Given the description of an element on the screen output the (x, y) to click on. 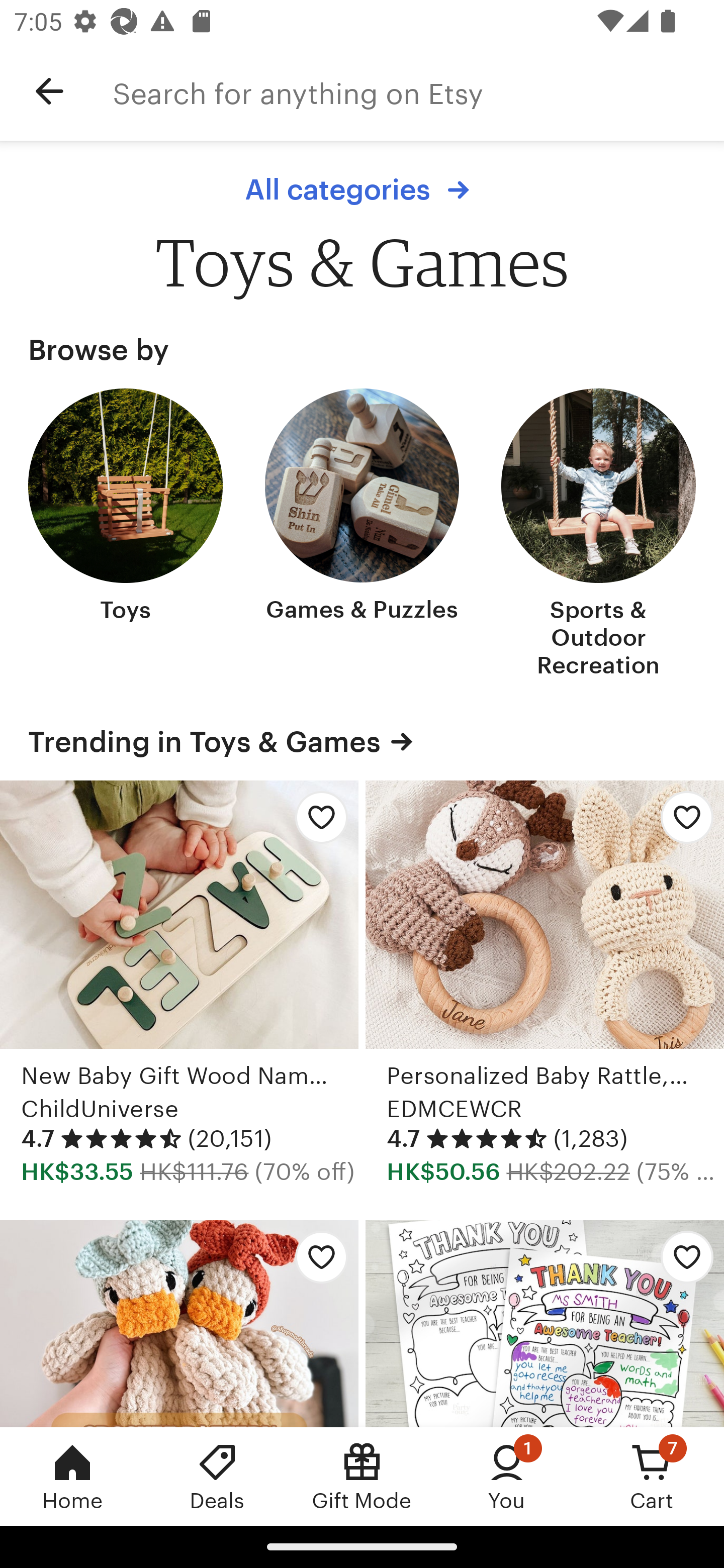
Navigate up (49, 91)
Search for anything on Etsy (418, 91)
All categories (361, 189)
Toys (125, 535)
Games & Puzzles (361, 535)
Sports & Outdoor Recreation (598, 535)
Trending in Toys & Games  (361, 741)
Deals (216, 1475)
Gift Mode (361, 1475)
You, 1 new notification You (506, 1475)
Cart, 7 new notifications Cart (651, 1475)
